Given the description of an element on the screen output the (x, y) to click on. 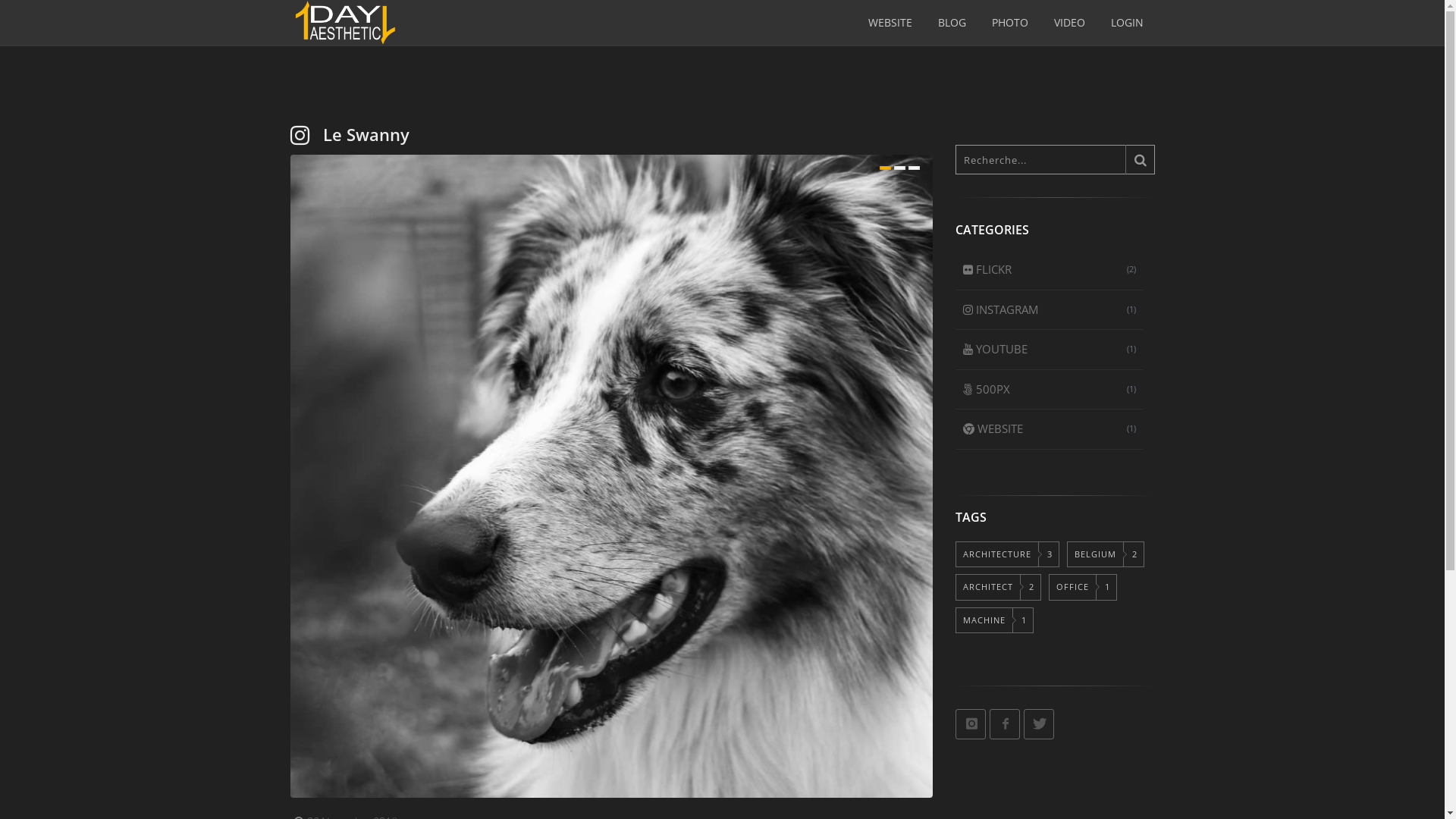
BLOG Element type: text (951, 22)
3 Element type: text (913, 167)
(2)
FLICKR Element type: text (1049, 269)
ARCHITECTURE
3 Element type: text (1007, 554)
VIDEO Element type: text (1068, 22)
Le Swanny Element type: text (366, 133)
(1)
INSTAGRAM Element type: text (1049, 309)
(1)
WEBSITE Element type: text (1049, 428)
2 Element type: text (899, 167)
WEBSITE Element type: text (889, 22)
MACHINE
1 Element type: text (994, 619)
(1)
YOUTUBE Element type: text (1049, 349)
LOGIN Element type: text (1126, 22)
OFFICE
1 Element type: text (1082, 587)
(1)
500PX Element type: text (1049, 388)
1 Element type: text (885, 167)
ARCHITECT
2 Element type: text (998, 587)
BELGIUM
2 Element type: text (1105, 554)
PHOTO Element type: text (1008, 22)
